Given the description of an element on the screen output the (x, y) to click on. 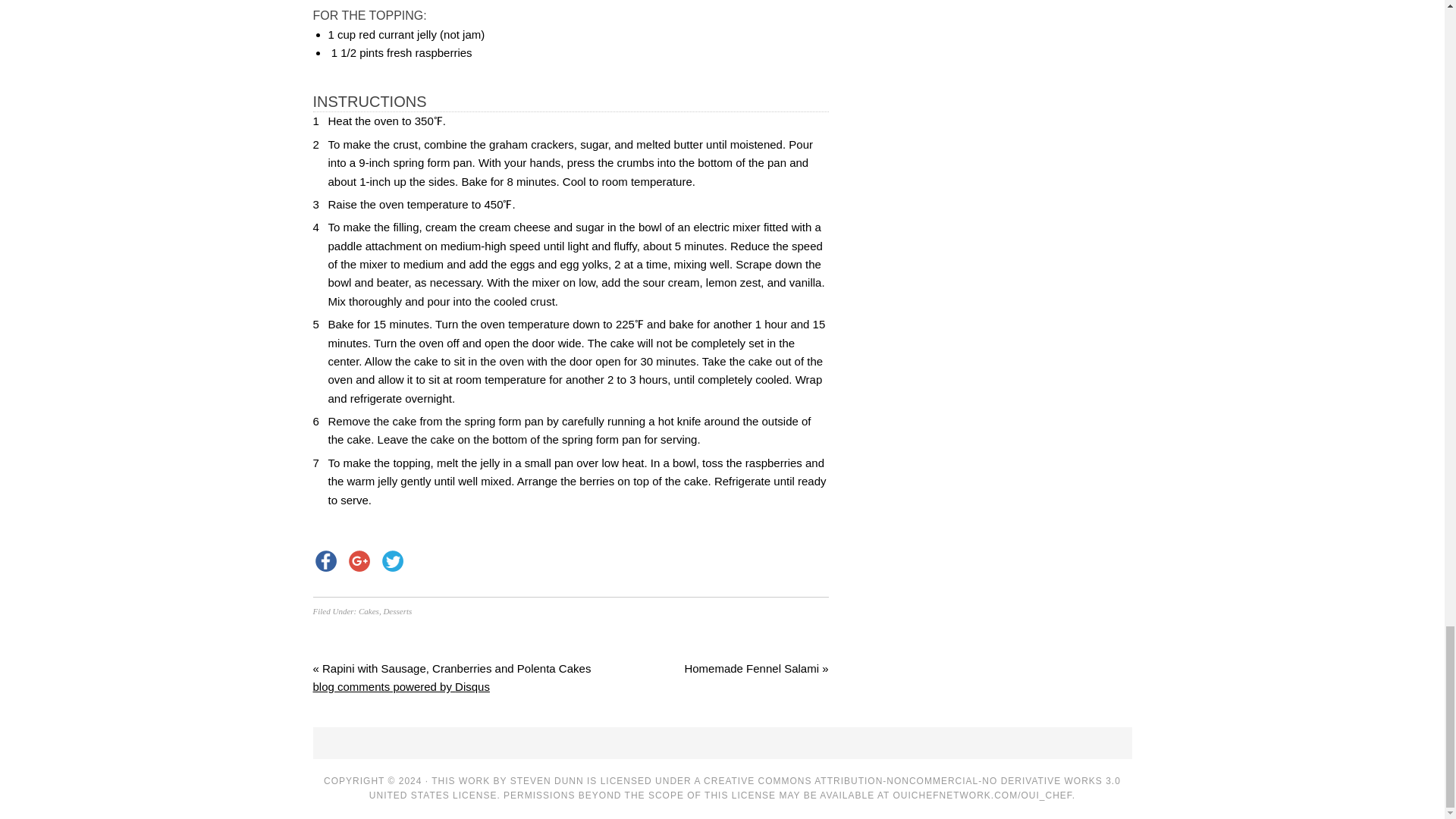
Desserts (397, 610)
Retweet (392, 560)
Retweet 'Raspberry Cheesecake' on Twitter (392, 560)
blog comments powered by Disqus (401, 686)
Like (325, 560)
Cakes (368, 610)
